Given the description of an element on the screen output the (x, y) to click on. 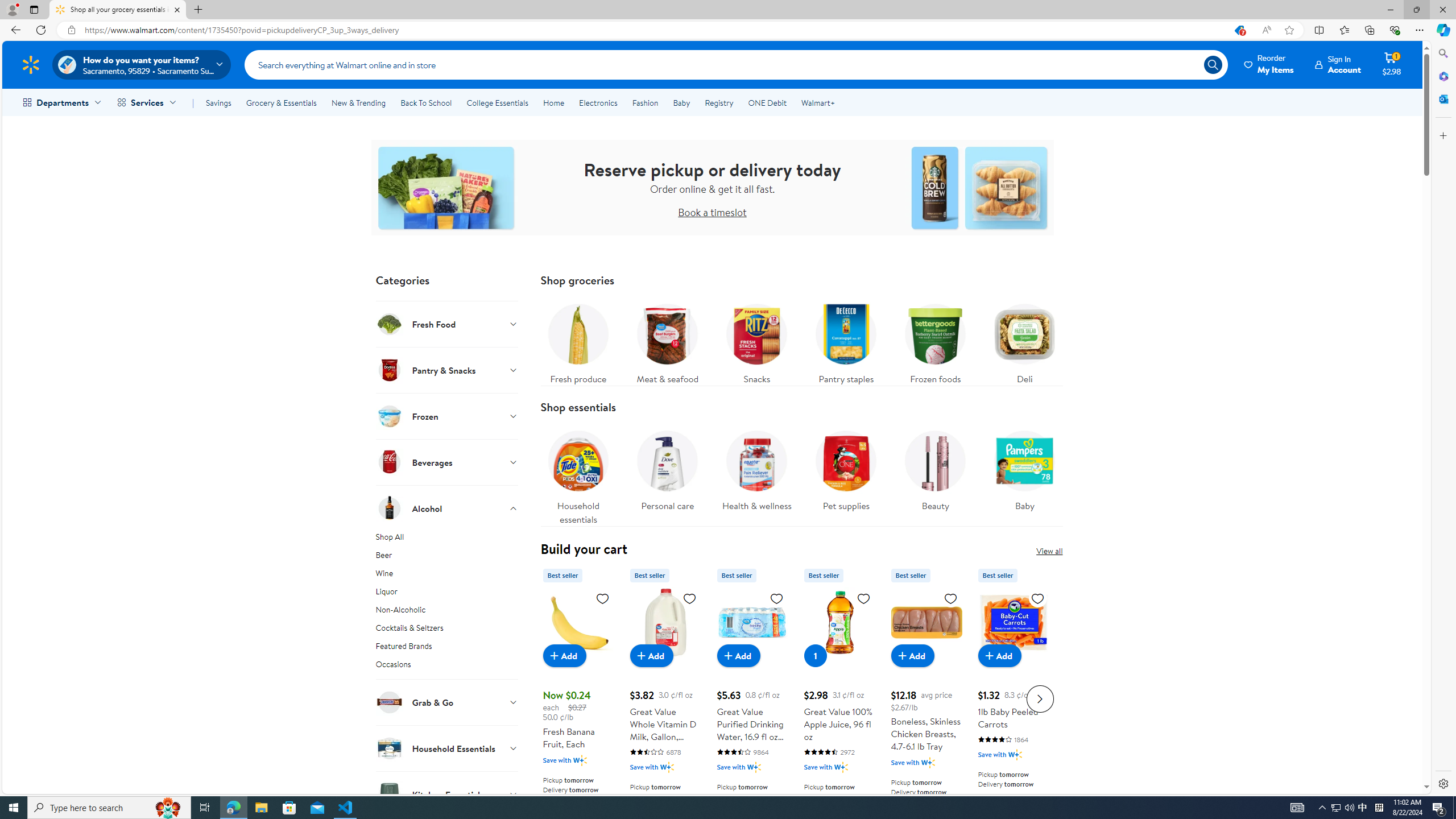
Health & wellness (756, 473)
Household essentials (577, 473)
Fashion (644, 102)
ONE Debit (767, 102)
Fresh Banana Fruit, Each (578, 621)
Back To School (425, 102)
Cart contains 1 item Total Amount $2.98 (1391, 64)
Featured Brands (446, 648)
Occasions (446, 668)
Non-Alcoholic (446, 611)
Sign in to add to Favorites list, 1lb Baby Peeled Carrots (1036, 597)
